Given the description of an element on the screen output the (x, y) to click on. 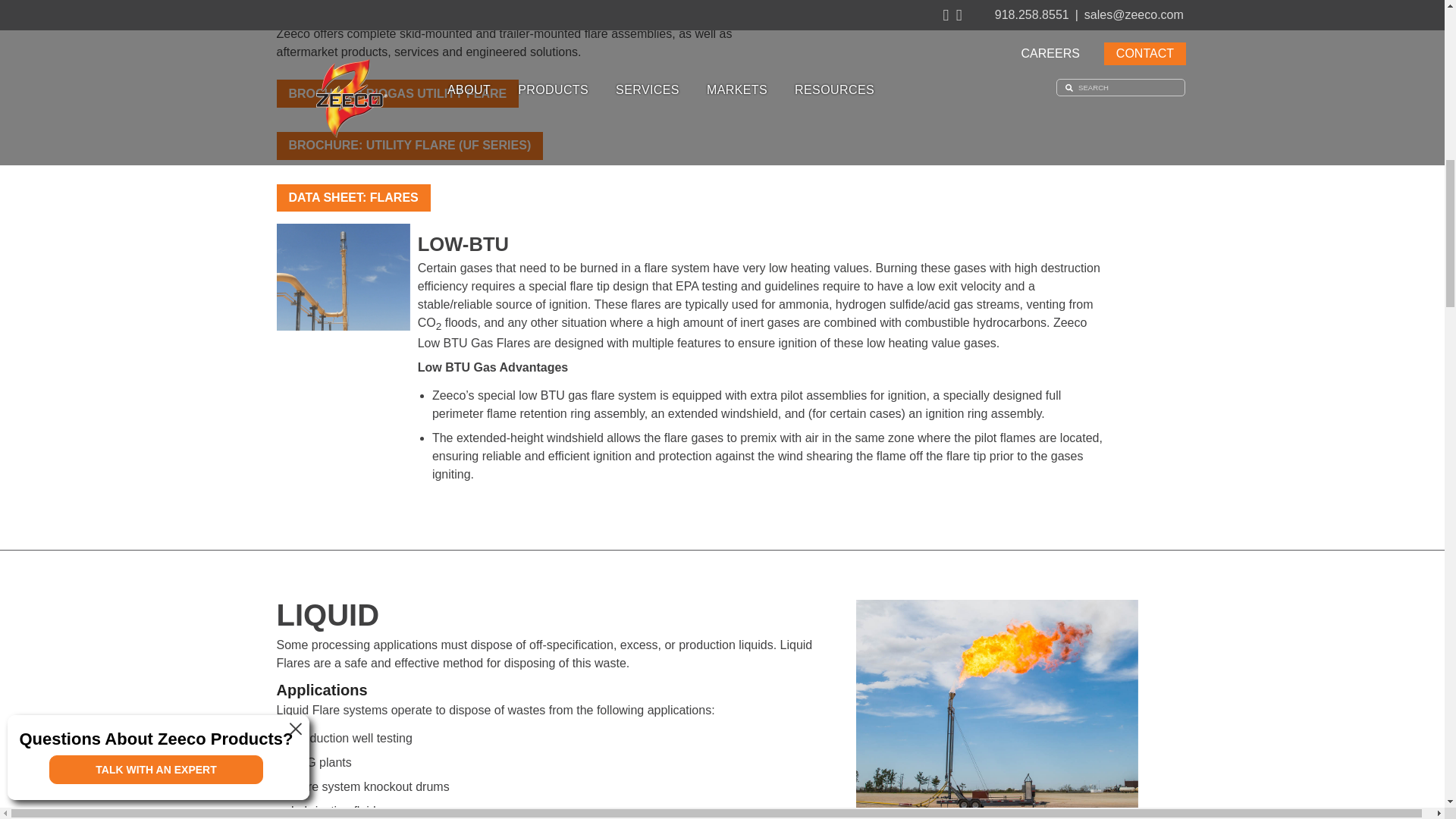
Liquid Flare (997, 709)
utility-flares (959, 2)
Gas - Low-BTU (342, 276)
